Given the description of an element on the screen output the (x, y) to click on. 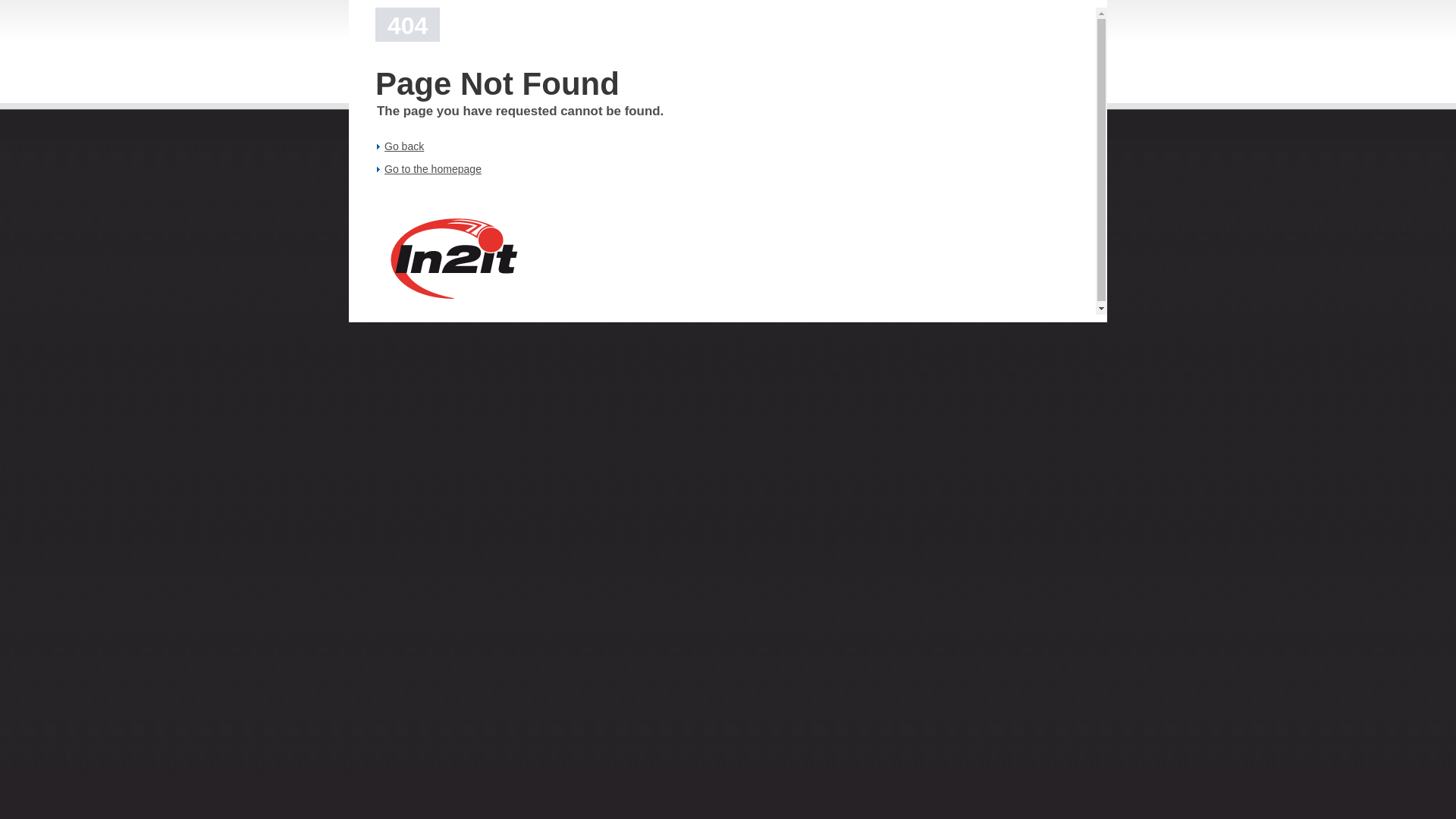
Go back Element type: text (403, 146)
Go to the homepage Element type: text (432, 169)
